Given the description of an element on the screen output the (x, y) to click on. 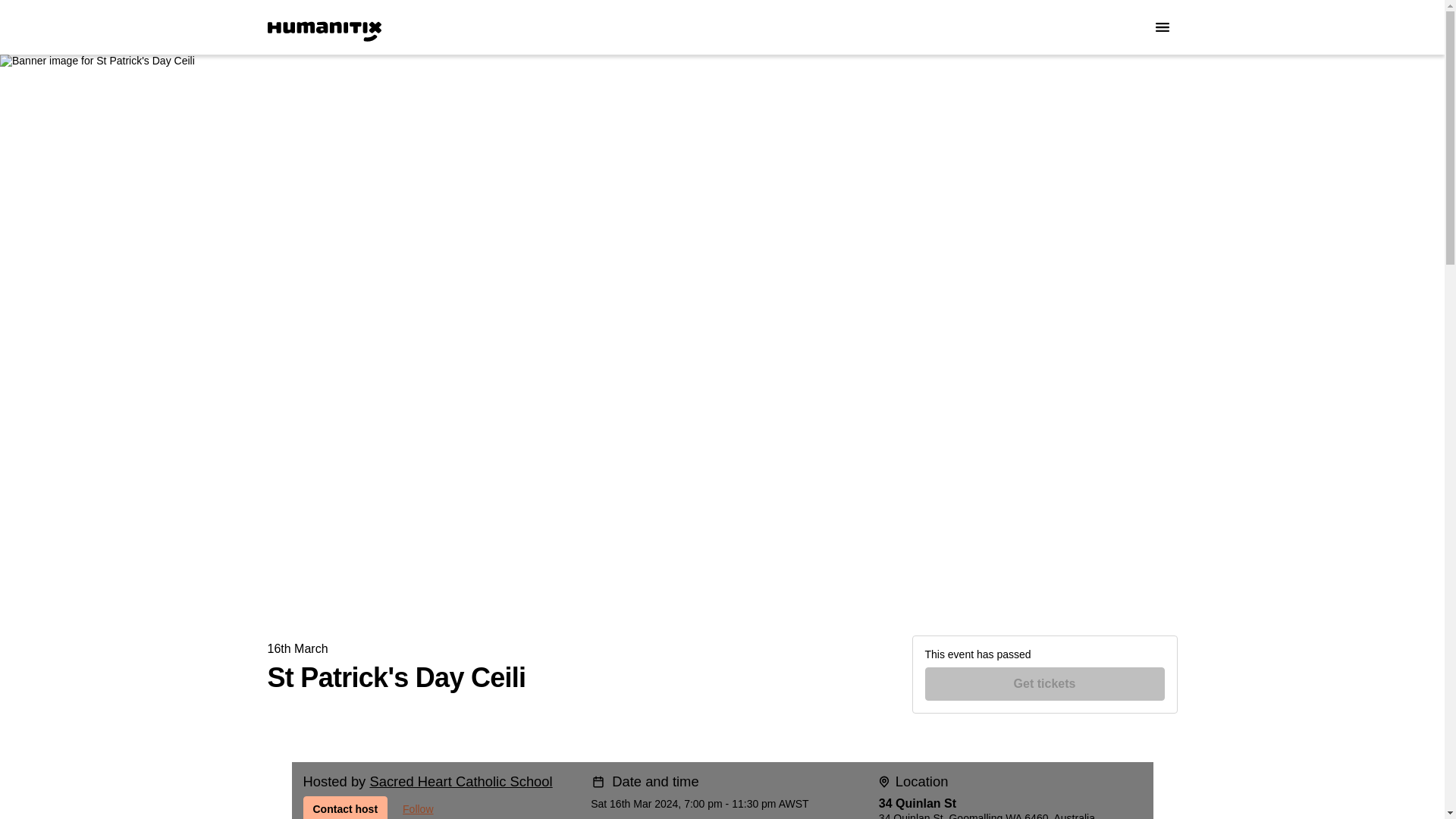
Skip to Content (18, 18)
Sacred Heart Catholic School (460, 781)
Get tickets (1044, 684)
Follow (417, 807)
